Given the description of an element on the screen output the (x, y) to click on. 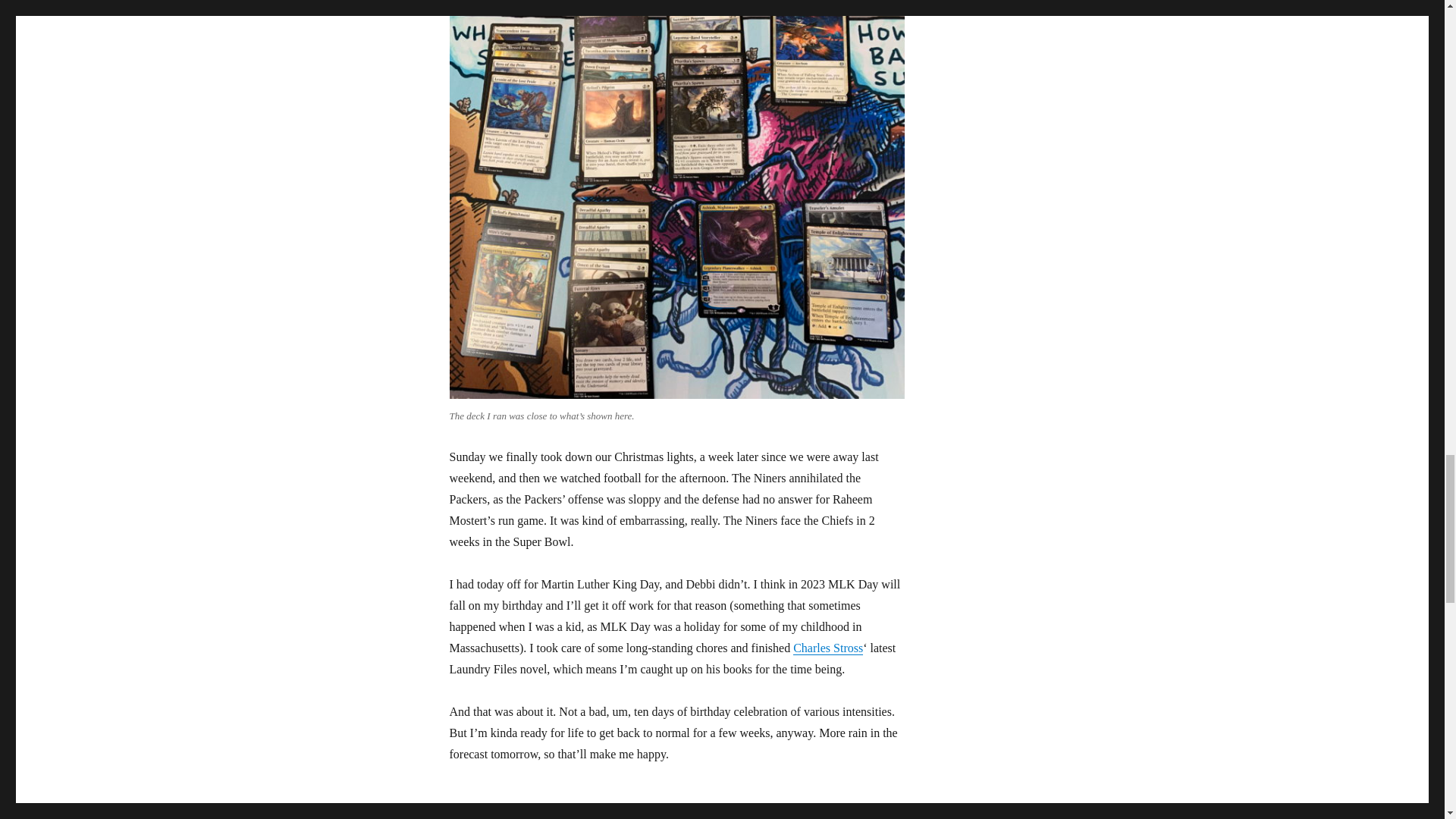
Charles Stross (828, 647)
